Given the description of an element on the screen output the (x, y) to click on. 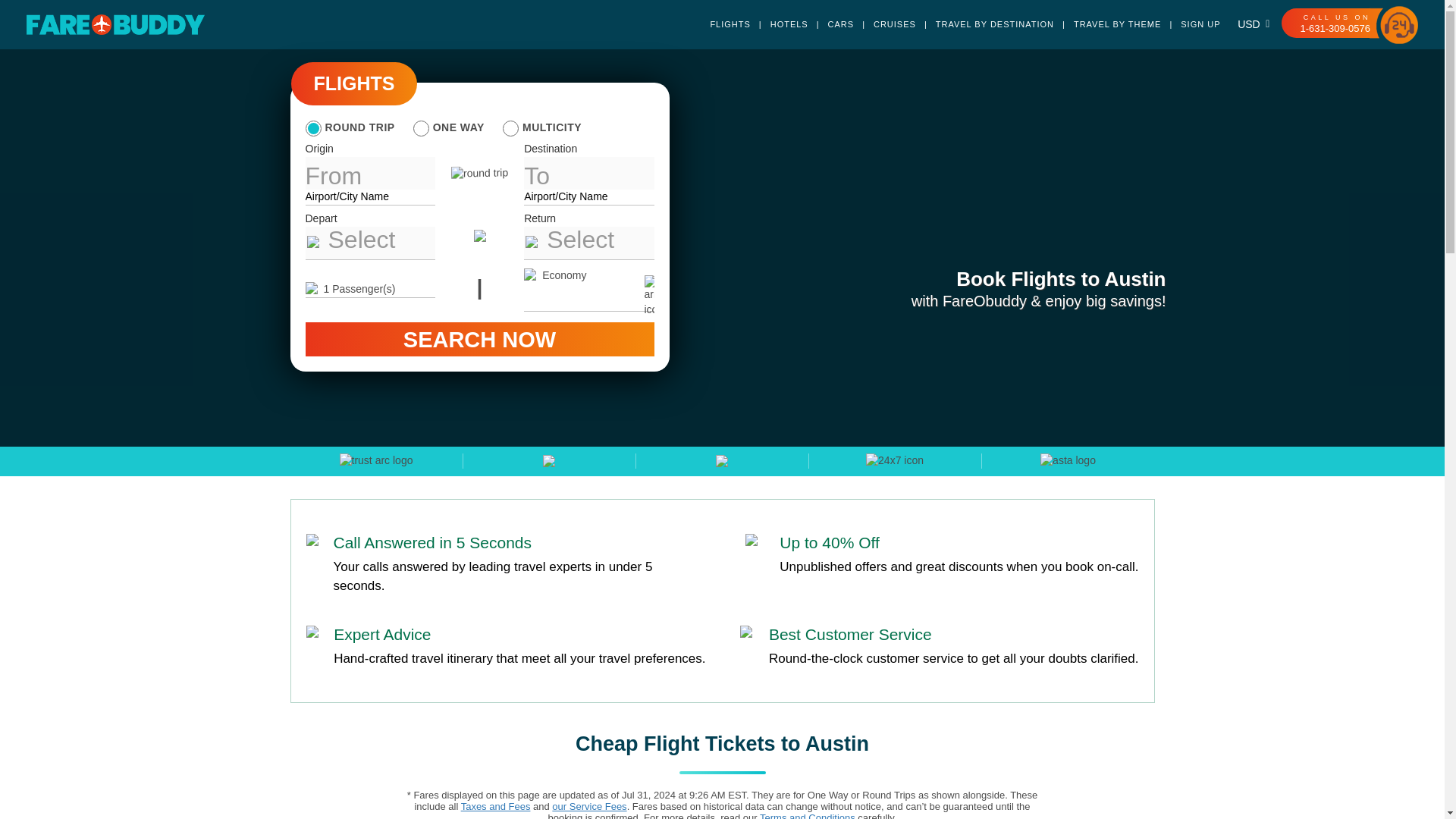
ONE WAY (448, 127)
HOTELS (779, 24)
CARS (830, 24)
TRAVEL BY THEME (1107, 24)
CRUISES (884, 24)
MULTICITY (541, 127)
1-631-309-0576 (1335, 28)
ROUND TRIP (349, 127)
USD (1250, 23)
SIGN UP (1190, 24)
FLIGHTS (354, 83)
FLIGHTS (729, 24)
TRAVEL BY DESTINATION (984, 24)
